Given the description of an element on the screen output the (x, y) to click on. 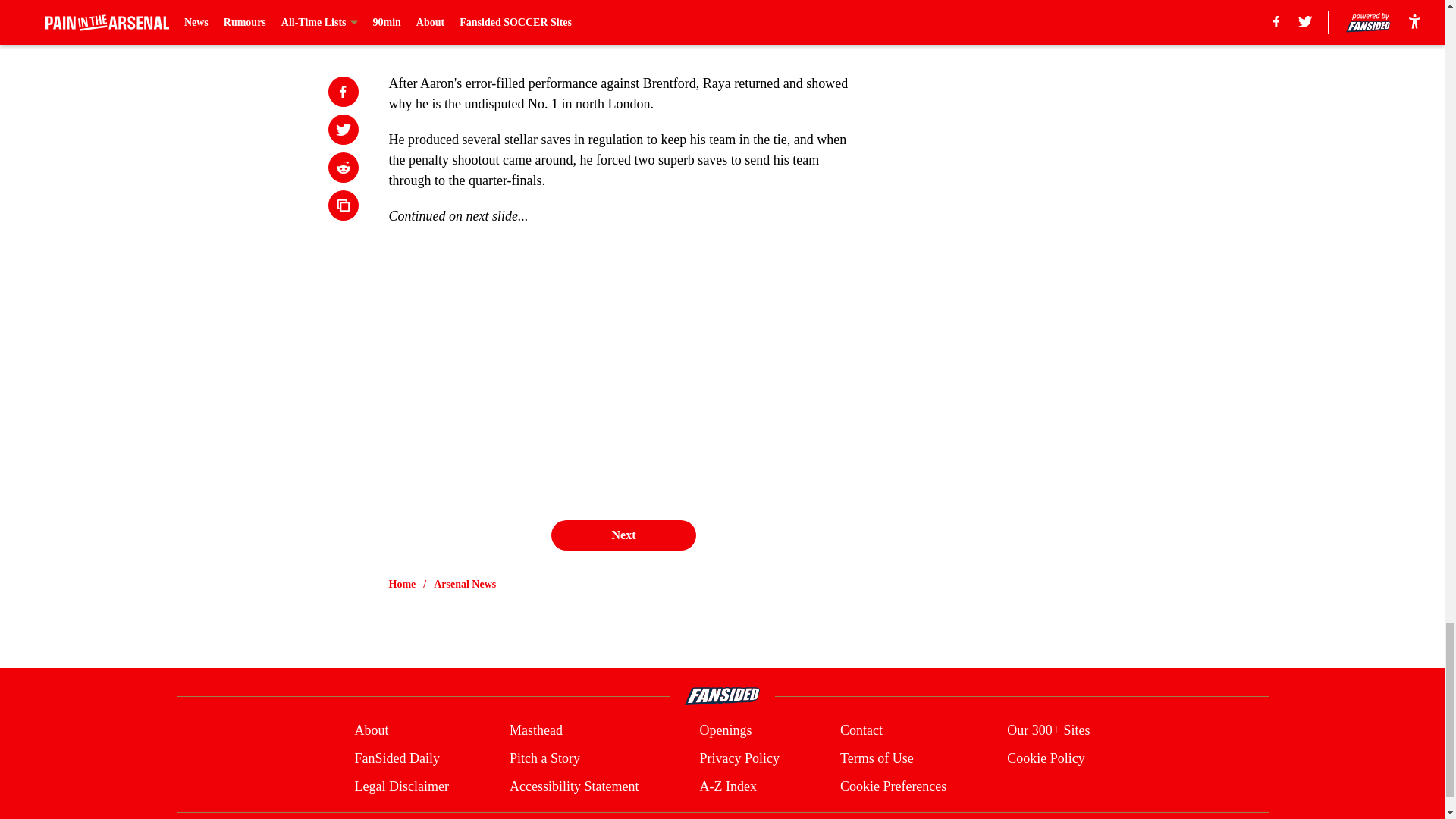
About (370, 730)
Home (401, 584)
Next (622, 535)
Openings (724, 730)
Masthead (535, 730)
Terms of Use (877, 758)
Arsenal News (464, 584)
FanSided Daily (396, 758)
Pitch a Story (544, 758)
Privacy Policy (738, 758)
Contact (861, 730)
